Given the description of an element on the screen output the (x, y) to click on. 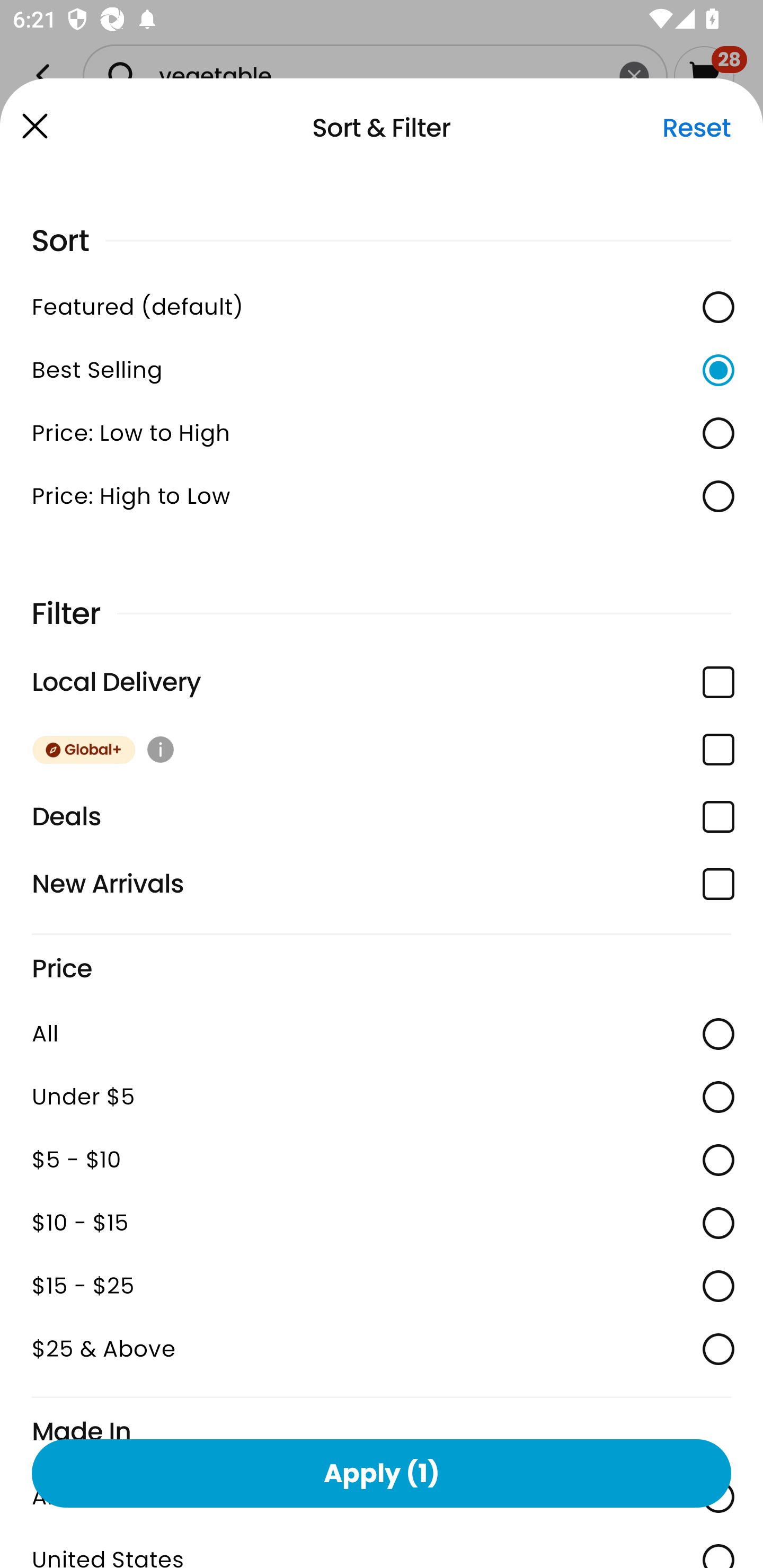
Reset (696, 127)
Apply (1) (381, 1472)
